Given the description of an element on the screen output the (x, y) to click on. 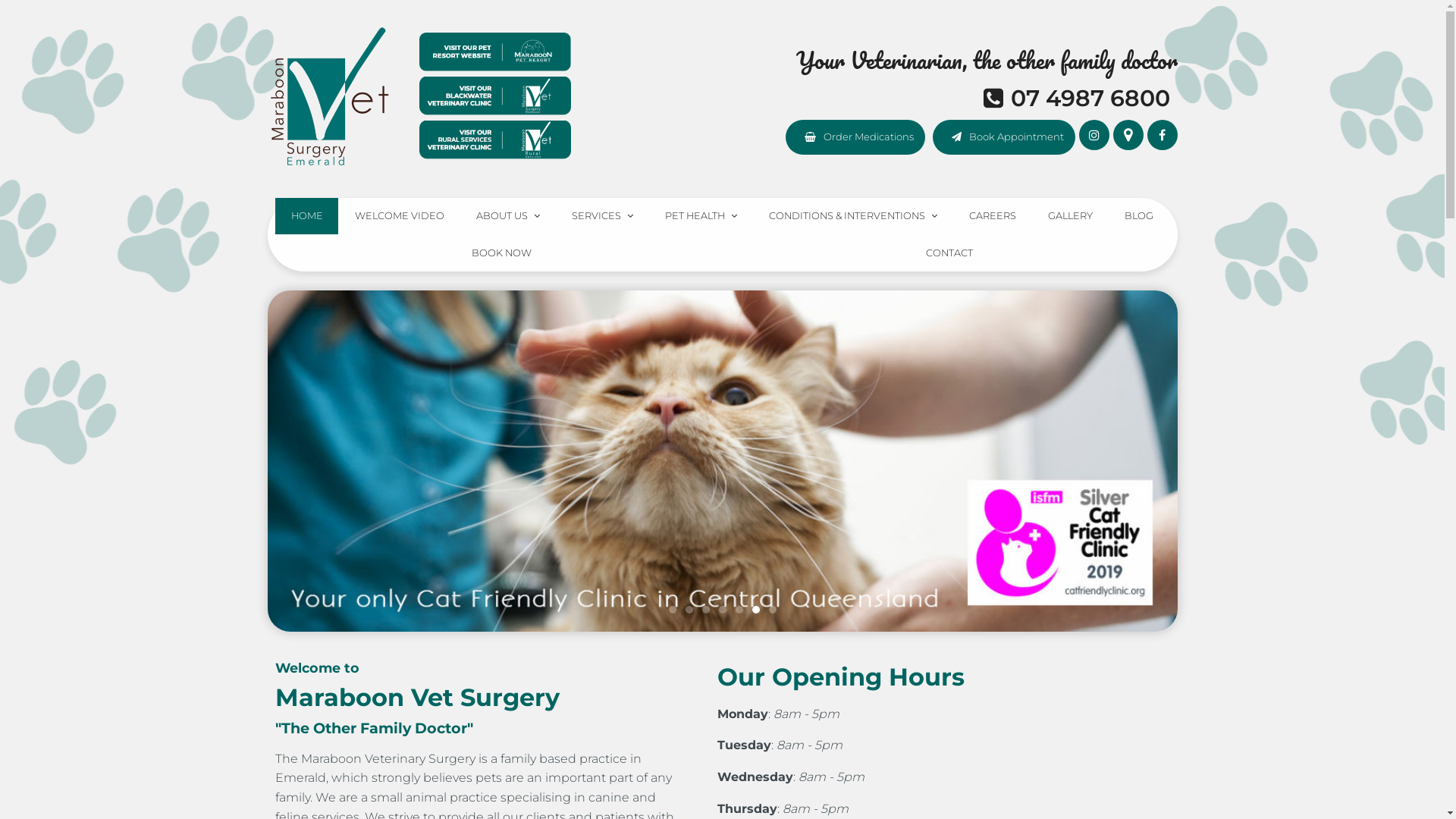
GALLERY Element type: text (1070, 216)
BOOK NOW Element type: text (501, 252)
CAREERS Element type: text (992, 216)
BLOG Element type: text (1139, 216)
CONDITIONS & INTERVENTIONS Element type: text (853, 216)
ABOUT US Element type: text (507, 216)
HOME Element type: text (306, 216)
Book Appointment Element type: text (1003, 136)
SERVICES Element type: text (601, 216)
CONTACT Element type: text (949, 252)
0 Element type: text (721, 460)
WELCOME VIDEO Element type: text (398, 216)
Order Medications Element type: text (855, 136)
PET HEALTH Element type: text (701, 216)
